Given the description of an element on the screen output the (x, y) to click on. 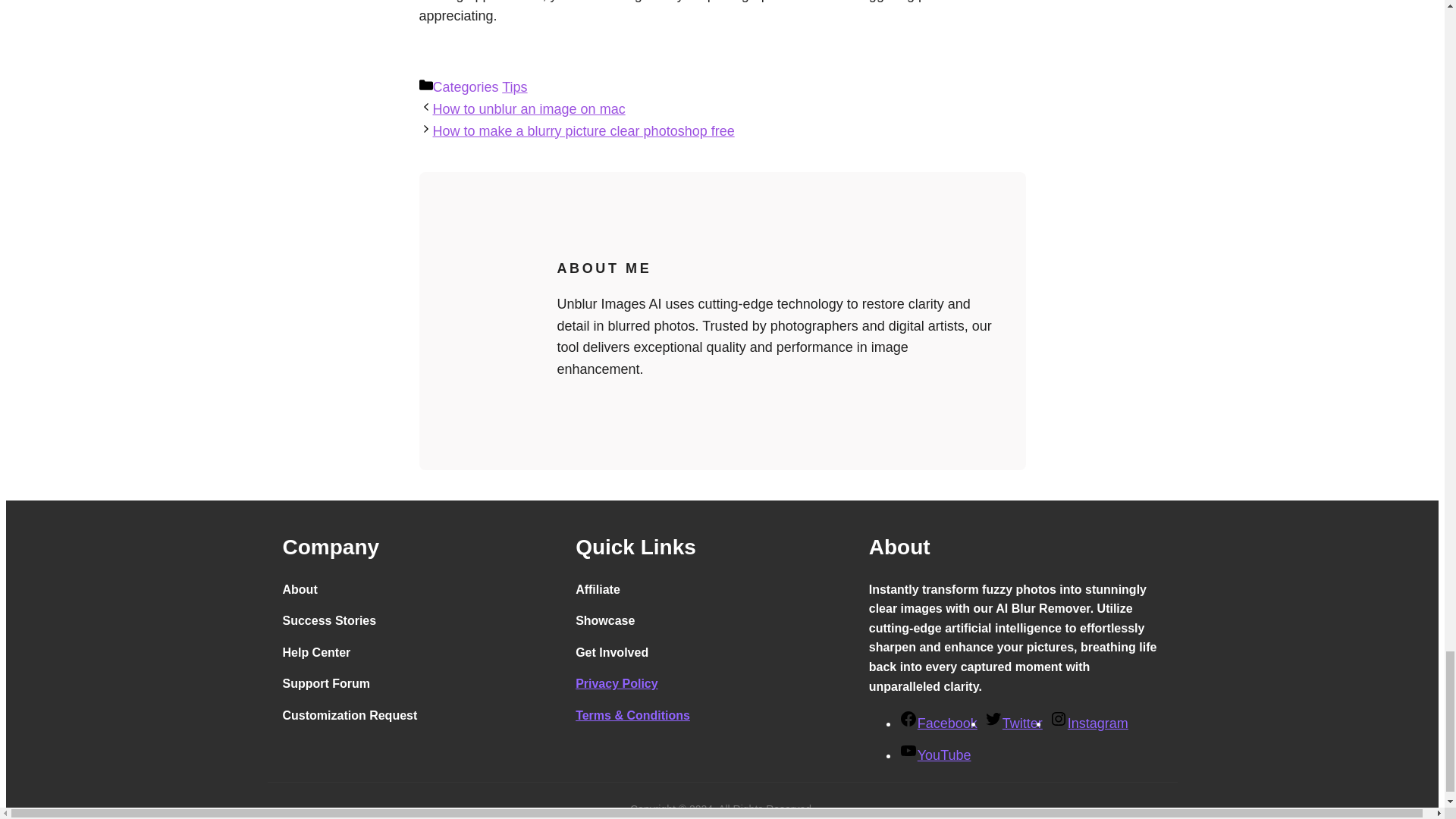
Instagram (1088, 723)
Twitter (1013, 723)
Facebook (937, 723)
How to make a blurry picture clear photoshop free (582, 130)
How to unblur an image on mac (528, 109)
Tips (514, 87)
Privacy Policy (616, 683)
YouTube (935, 754)
